Given the description of an element on the screen output the (x, y) to click on. 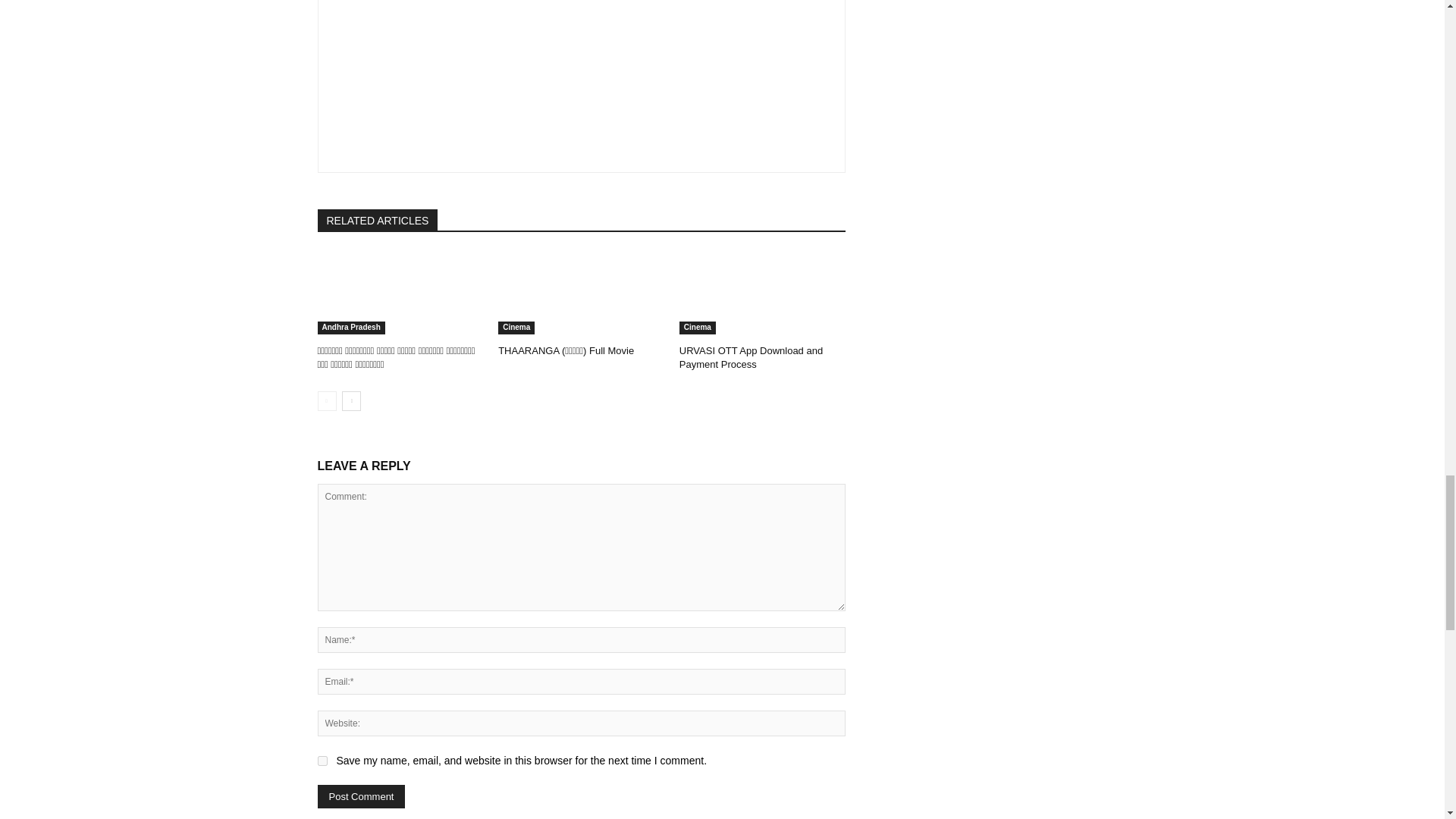
yes (321, 760)
Post Comment (360, 796)
